Given the description of an element on the screen output the (x, y) to click on. 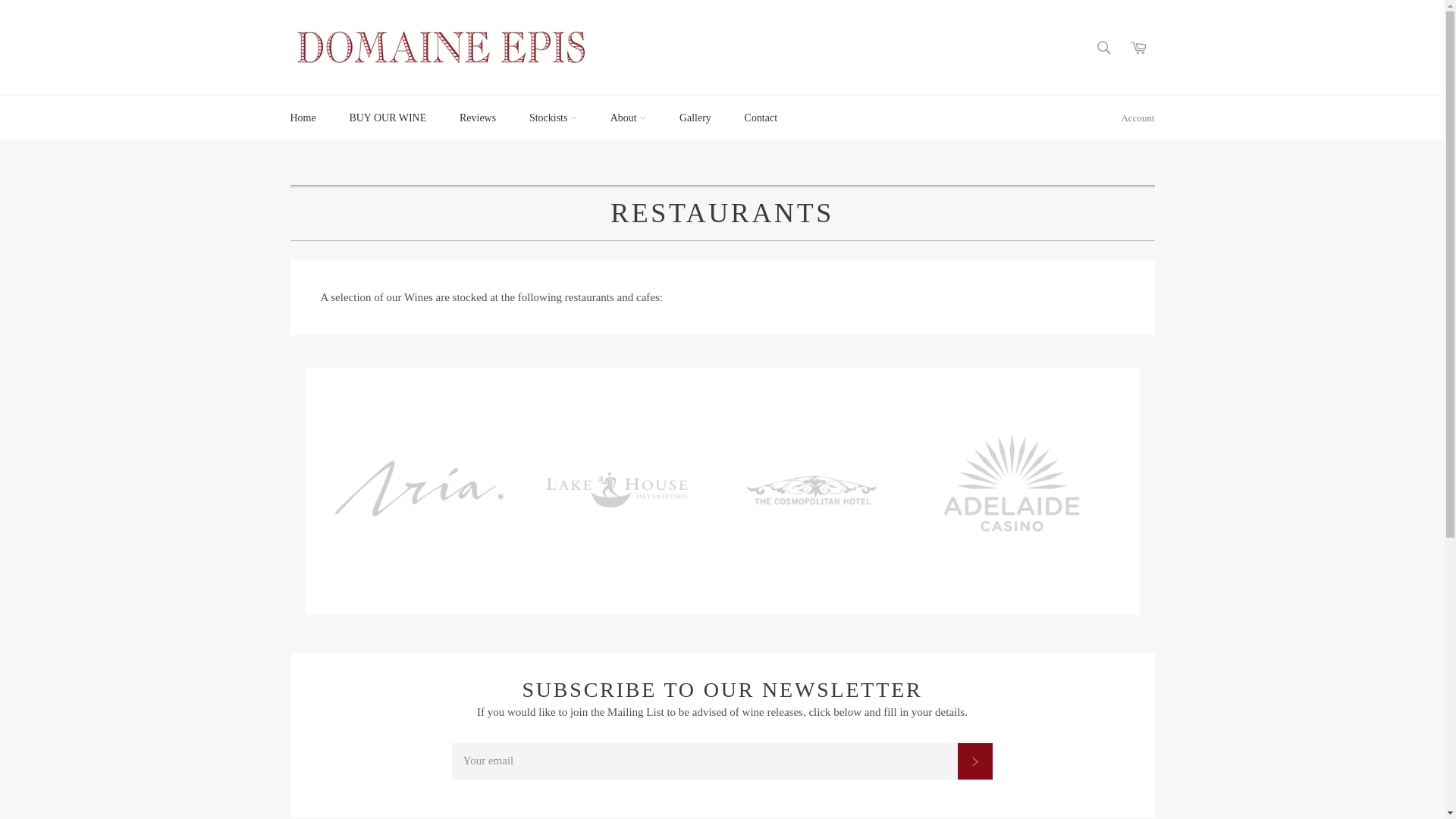
Contact Element type: text (761, 117)
Stockists Element type: text (553, 117)
About Element type: text (628, 117)
Cart Element type: text (1138, 47)
Home Element type: text (302, 117)
Search Element type: text (1104, 47)
Subscribe Element type: text (974, 761)
Account Element type: text (1137, 118)
Reviews Element type: text (477, 117)
Gallery Element type: text (695, 117)
BUY OUR WINE Element type: text (387, 117)
